Given the description of an element on the screen output the (x, y) to click on. 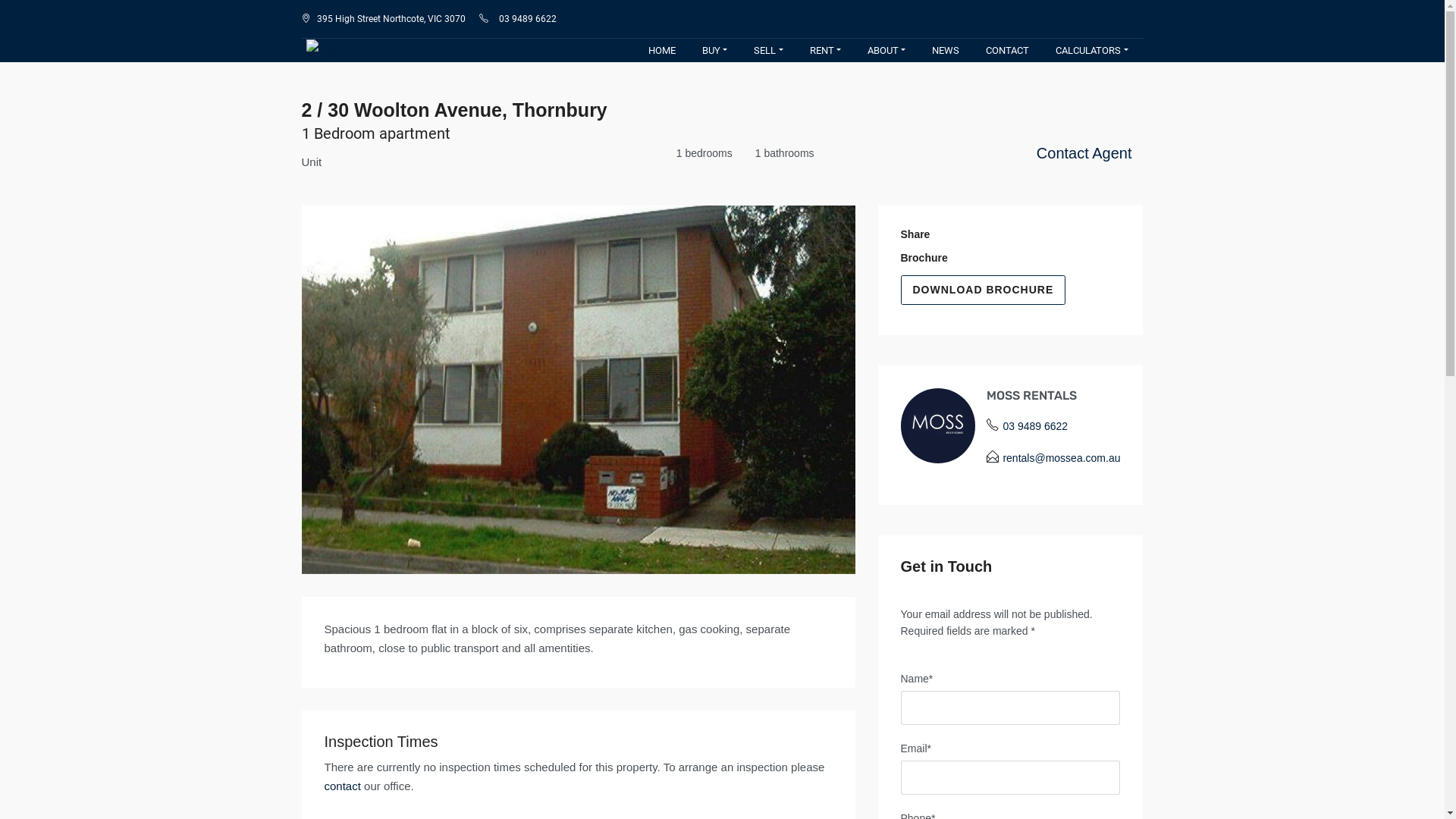
CONTACT Element type: text (1007, 50)
MOSS RENTALS Element type: text (1031, 395)
RENT Element type: text (825, 50)
03 9489 6622 Element type: text (527, 18)
CALCULATORS Element type: text (1091, 50)
03 9489 6622 Element type: text (1034, 426)
BUY Element type: text (714, 50)
SELL Element type: text (767, 50)
NEWS Element type: text (945, 50)
rentals@mossea.com.au Element type: text (1061, 457)
ABOUT Element type: text (886, 50)
contact Element type: text (342, 785)
HOME Element type: text (662, 50)
DOWNLOAD BROCHURE Element type: text (983, 290)
